Given the description of an element on the screen output the (x, y) to click on. 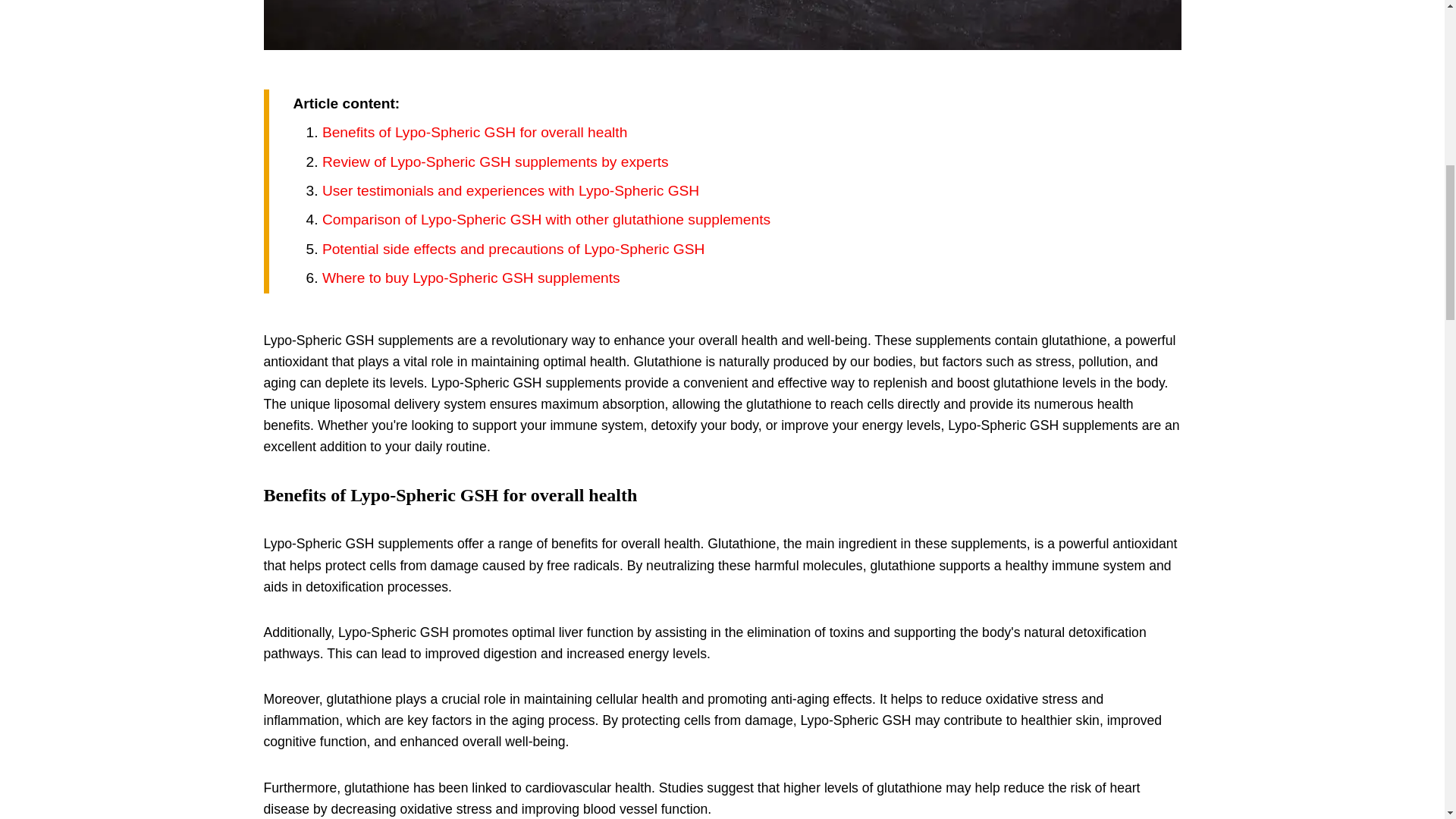
User testimonials and experiences with Lypo-Spheric GSH (509, 190)
Potential side effects and precautions of Lypo-Spheric GSH (512, 248)
Review of Lypo-Spheric GSH supplements by experts (494, 161)
Benefits of Lypo-Spheric GSH for overall health (474, 132)
Where to buy Lypo-Spheric GSH supplements (470, 277)
